Given the description of an element on the screen output the (x, y) to click on. 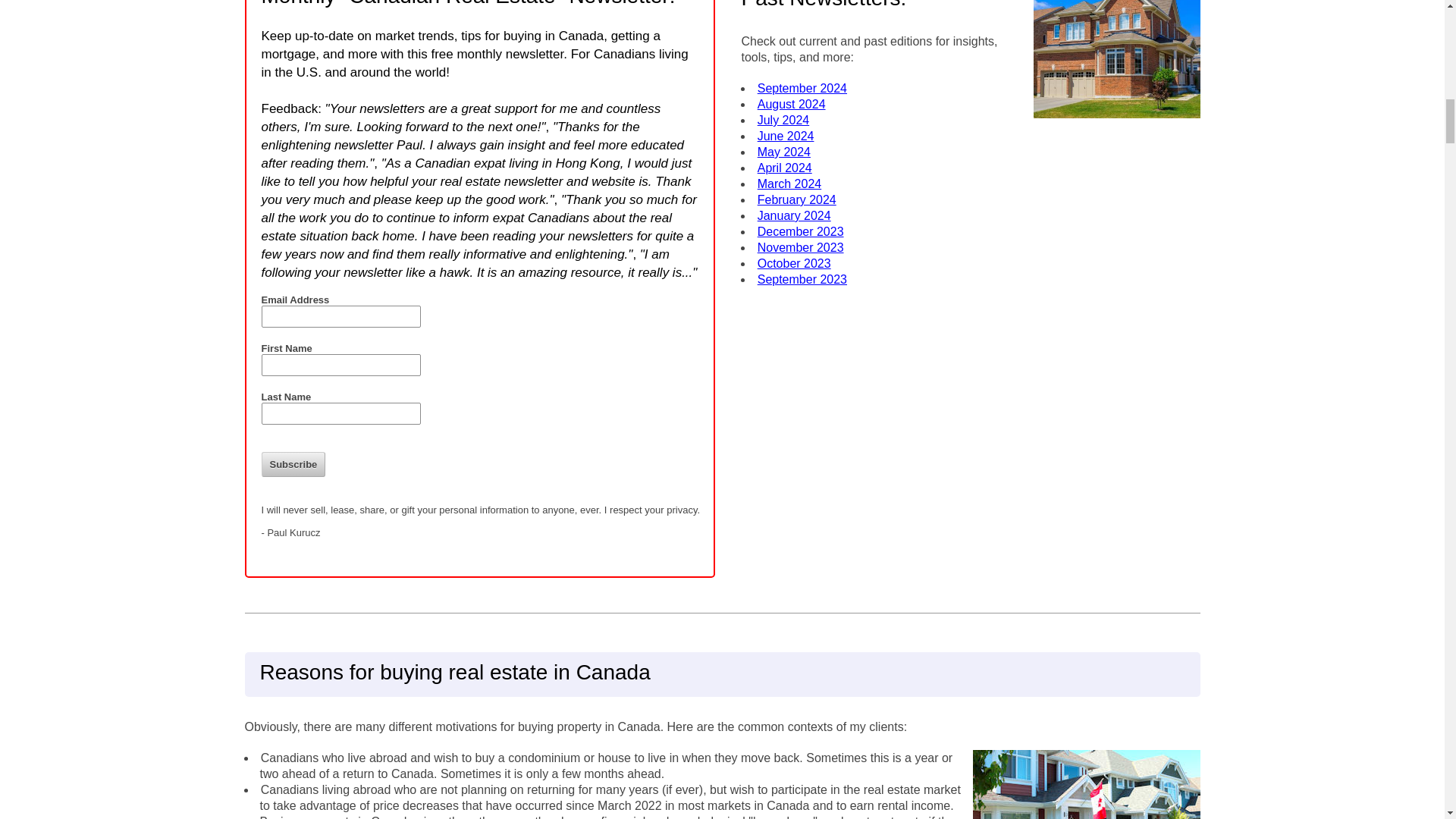
April 2024 (784, 167)
October 2023 (794, 263)
July 2024 (783, 119)
Subscribe (292, 464)
September 2023 (802, 278)
June 2024 (785, 135)
May 2024 (783, 151)
March 2024 (789, 183)
August 2024 (791, 103)
February 2024 (796, 199)
